Given the description of an element on the screen output the (x, y) to click on. 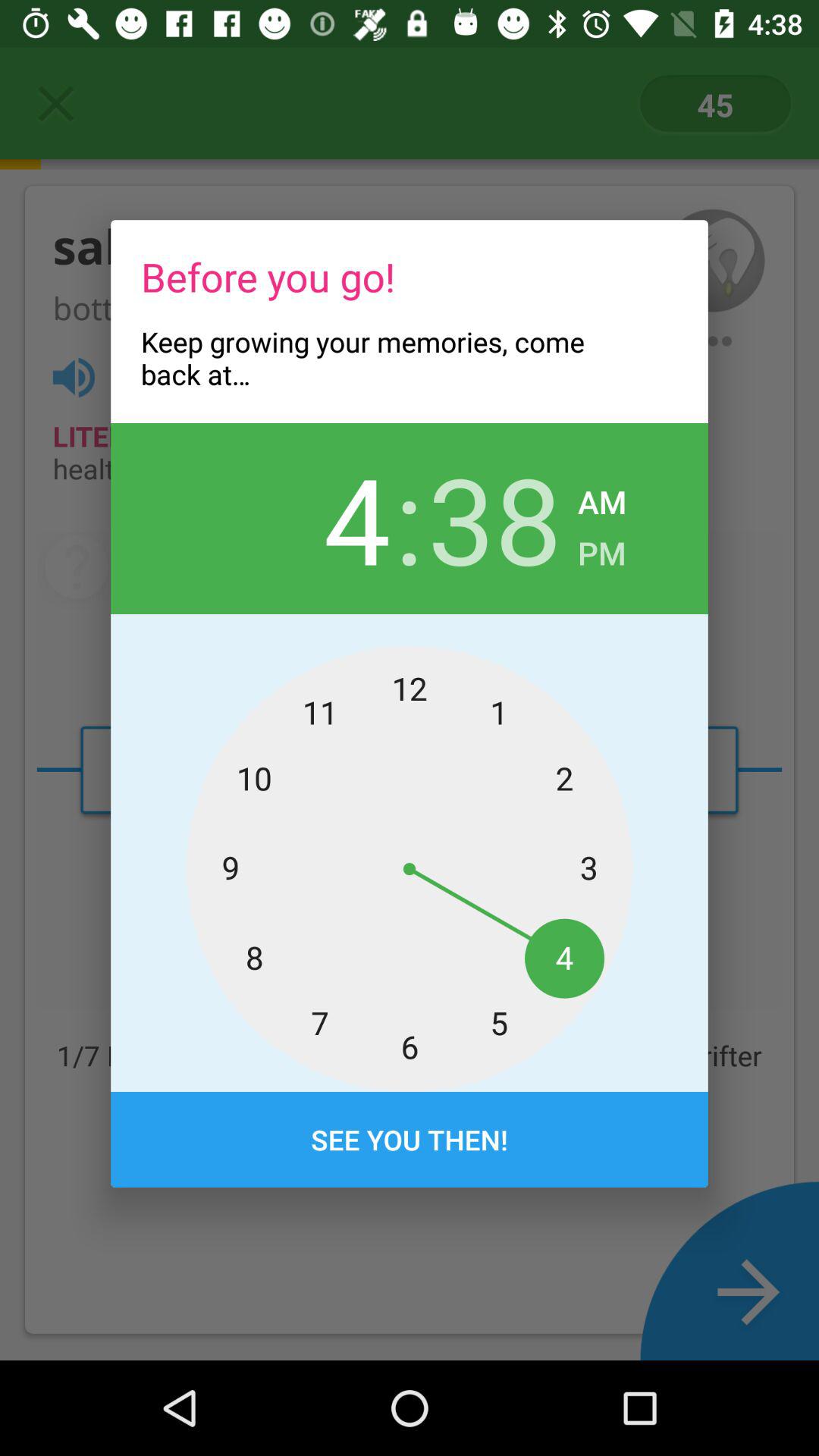
choose the icon next to 38 icon (601, 548)
